Given the description of an element on the screen output the (x, y) to click on. 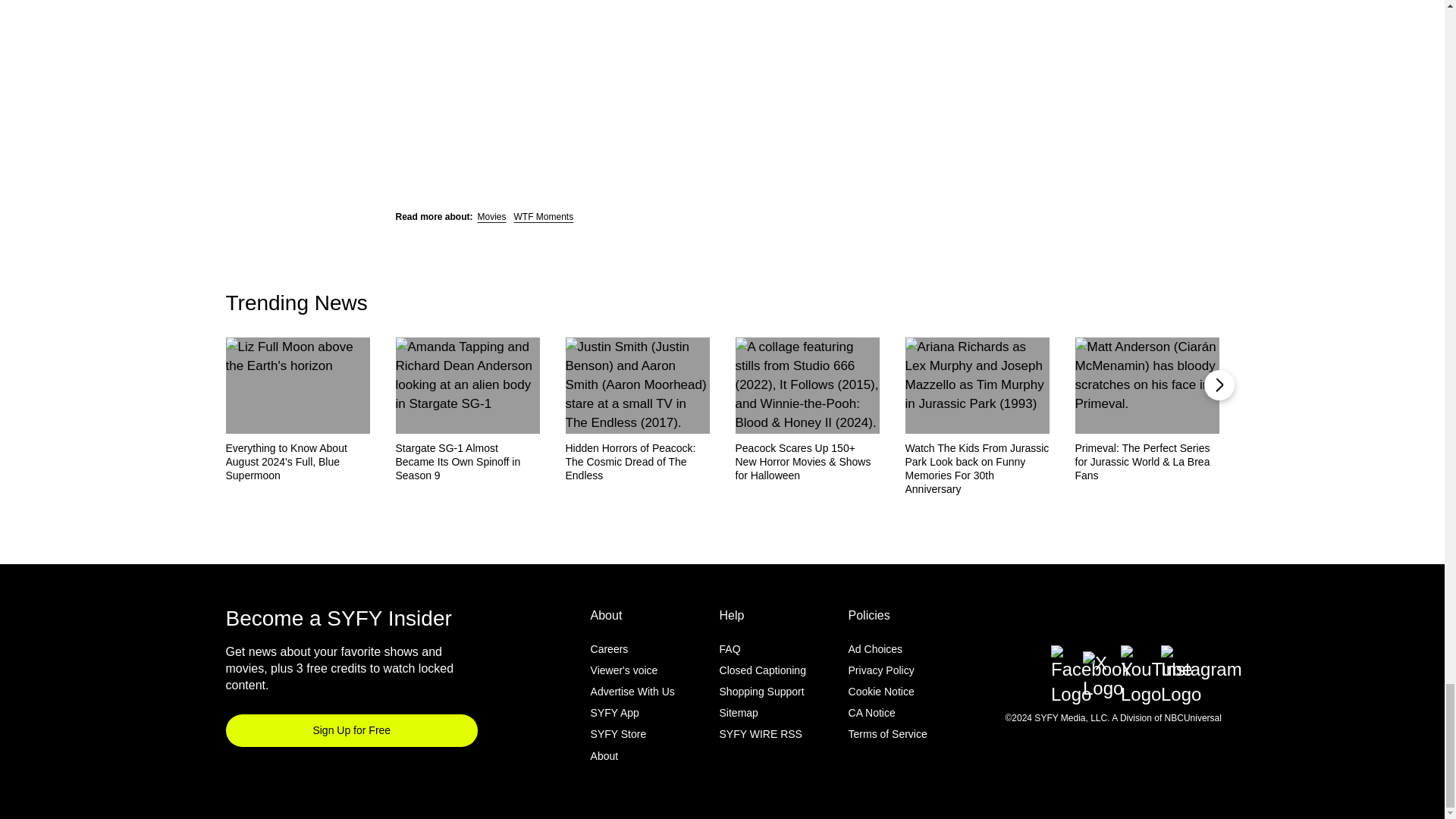
Advertise With Us (633, 691)
Everything to Know About August 2024's Full, Blue Supermoon (297, 461)
WTF Moments (543, 216)
Movies (491, 216)
Hidden Horrors of Peacock: The Cosmic Dread of The Endless (638, 461)
Stargate SG-1 Almost Became Its Own Spinoff in Season 9 (468, 461)
